Given the description of an element on the screen output the (x, y) to click on. 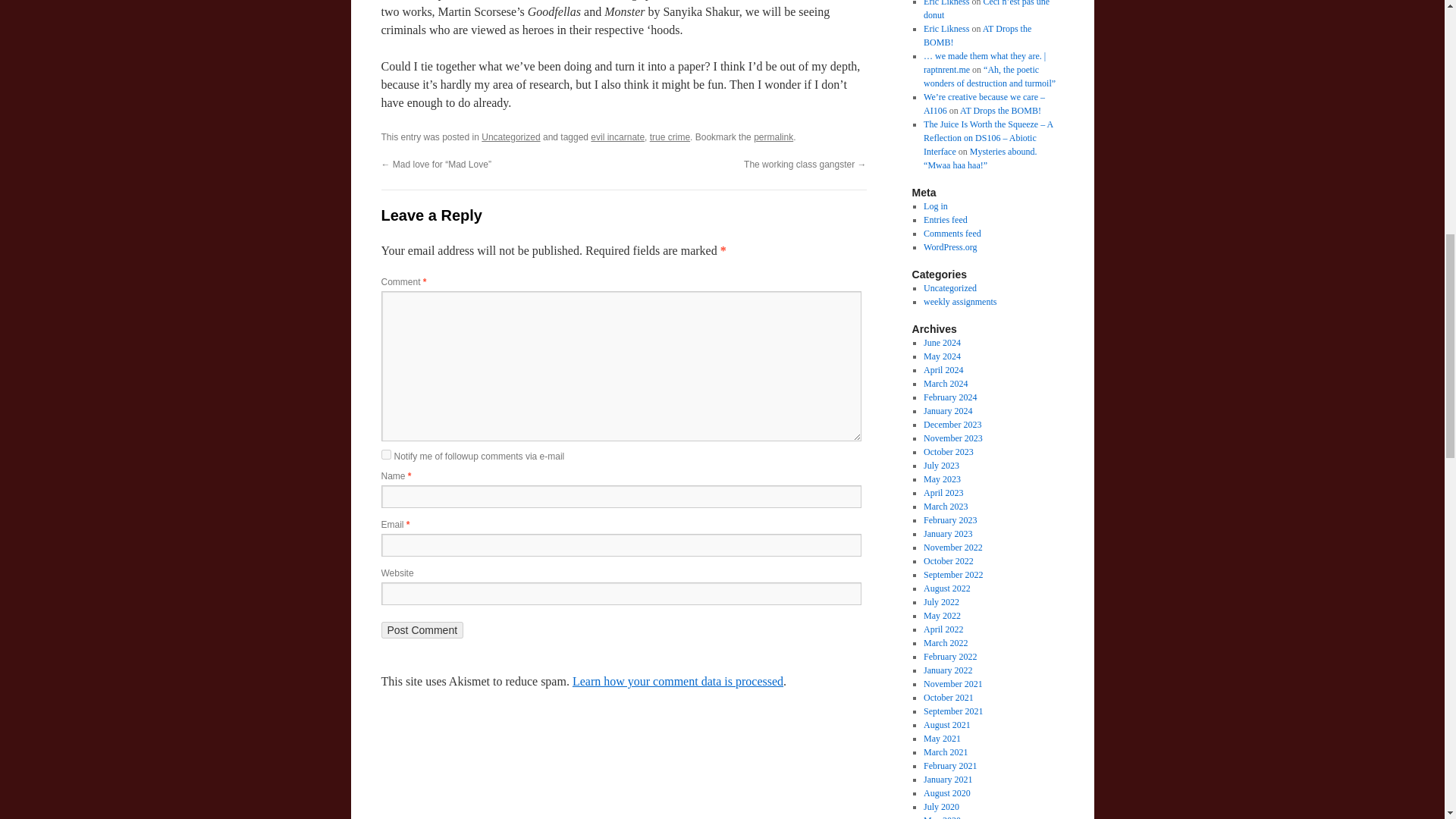
Post Comment (421, 629)
Learn how your comment data is processed (677, 680)
subscribe (385, 454)
Eric Likness (946, 3)
true crime (669, 136)
evil incarnate (618, 136)
Uncategorized (510, 136)
AT Drops the BOMB! (976, 35)
Permalink to Evil Incarnate (773, 136)
AT Drops the BOMB! (1000, 110)
Post Comment (421, 629)
permalink (773, 136)
Eric Likness (946, 28)
